Given the description of an element on the screen output the (x, y) to click on. 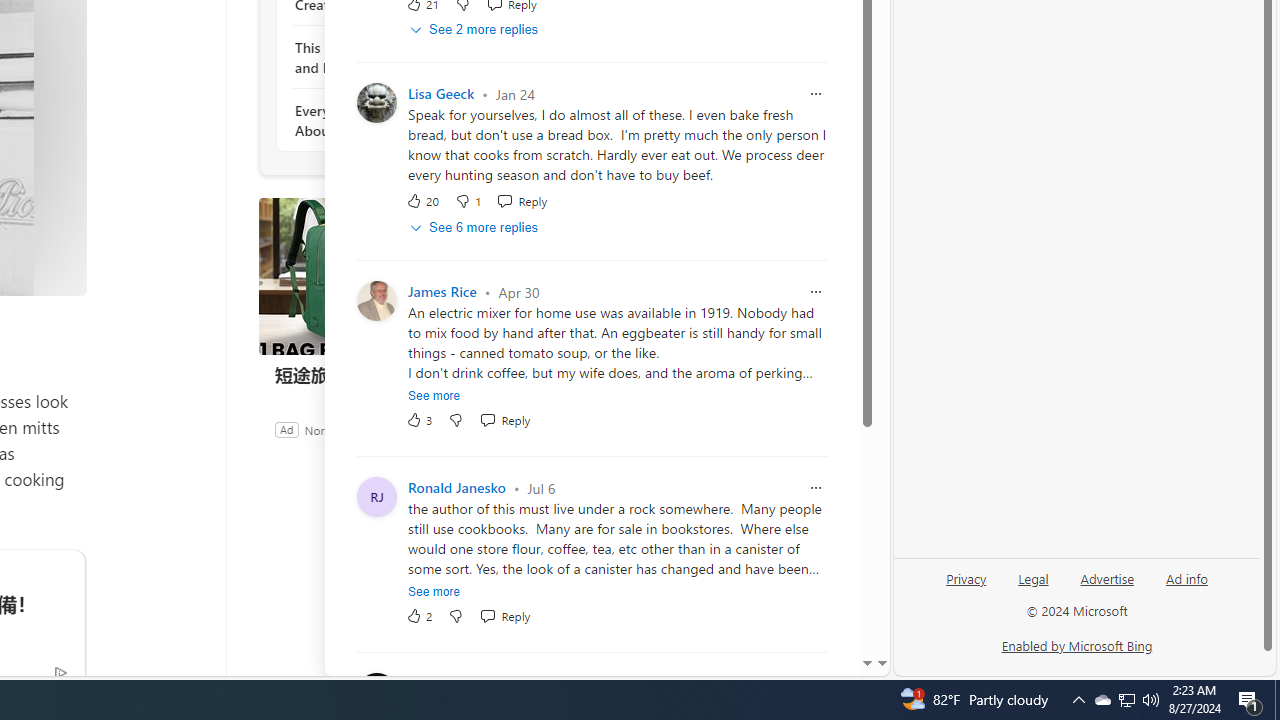
Lisa Geeck (441, 94)
